Given the description of an element on the screen output the (x, y) to click on. 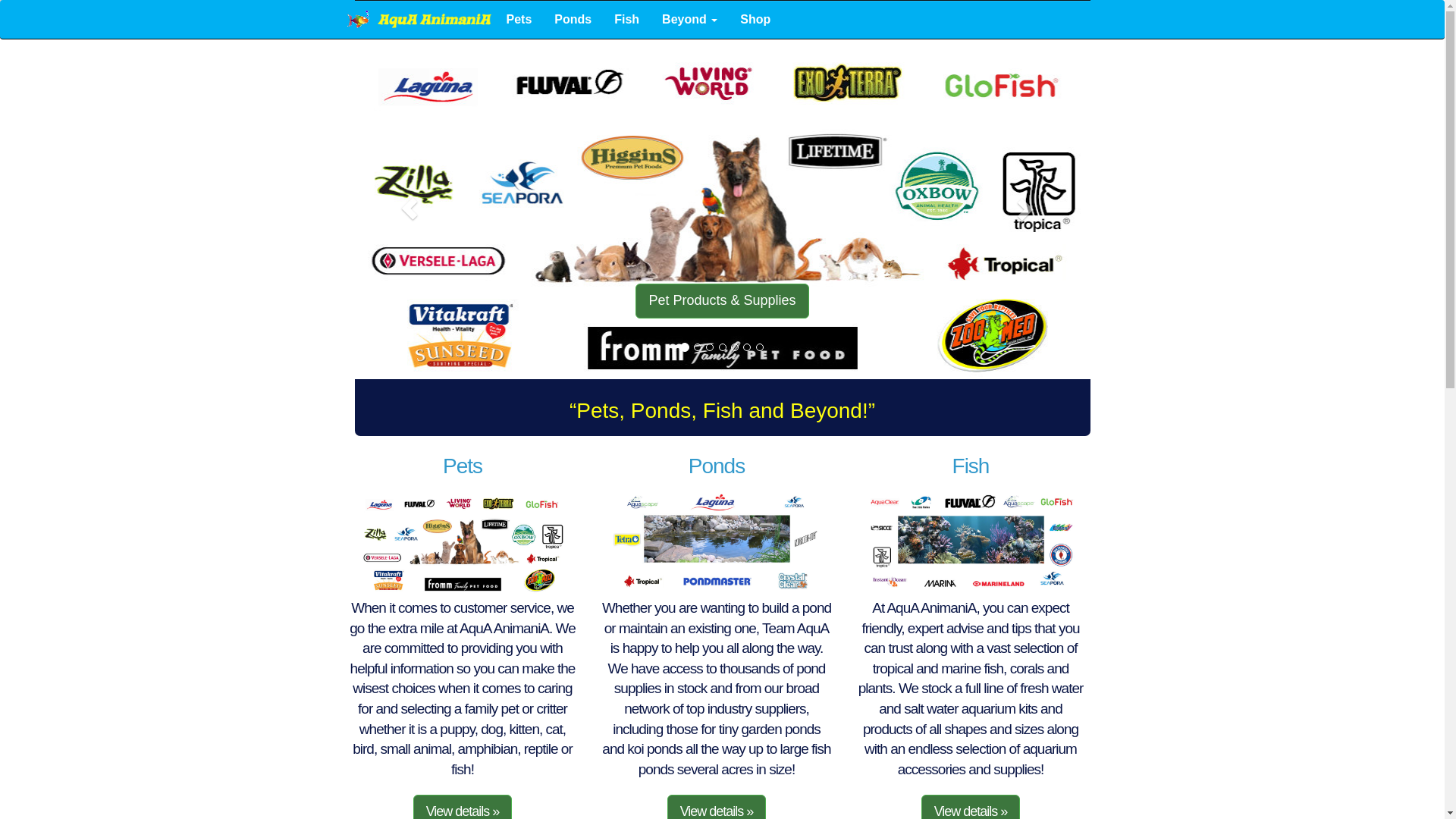
Go to the AquA AnimaniA Fish and Aquarium page. Element type: hover (970, 541)
Ponds Element type: text (572, 19)
Fish Element type: text (626, 19)
Pet Products & Supplies Element type: text (721, 300)
Shop Element type: text (754, 19)
AquA AnimaniA Index Element type: text (418, 18)
Beyond Element type: text (689, 19)
Go to the AquA AnimaniA Ponds page. Element type: hover (716, 541)
Pets Element type: text (518, 19)
